Given the description of an element on the screen output the (x, y) to click on. 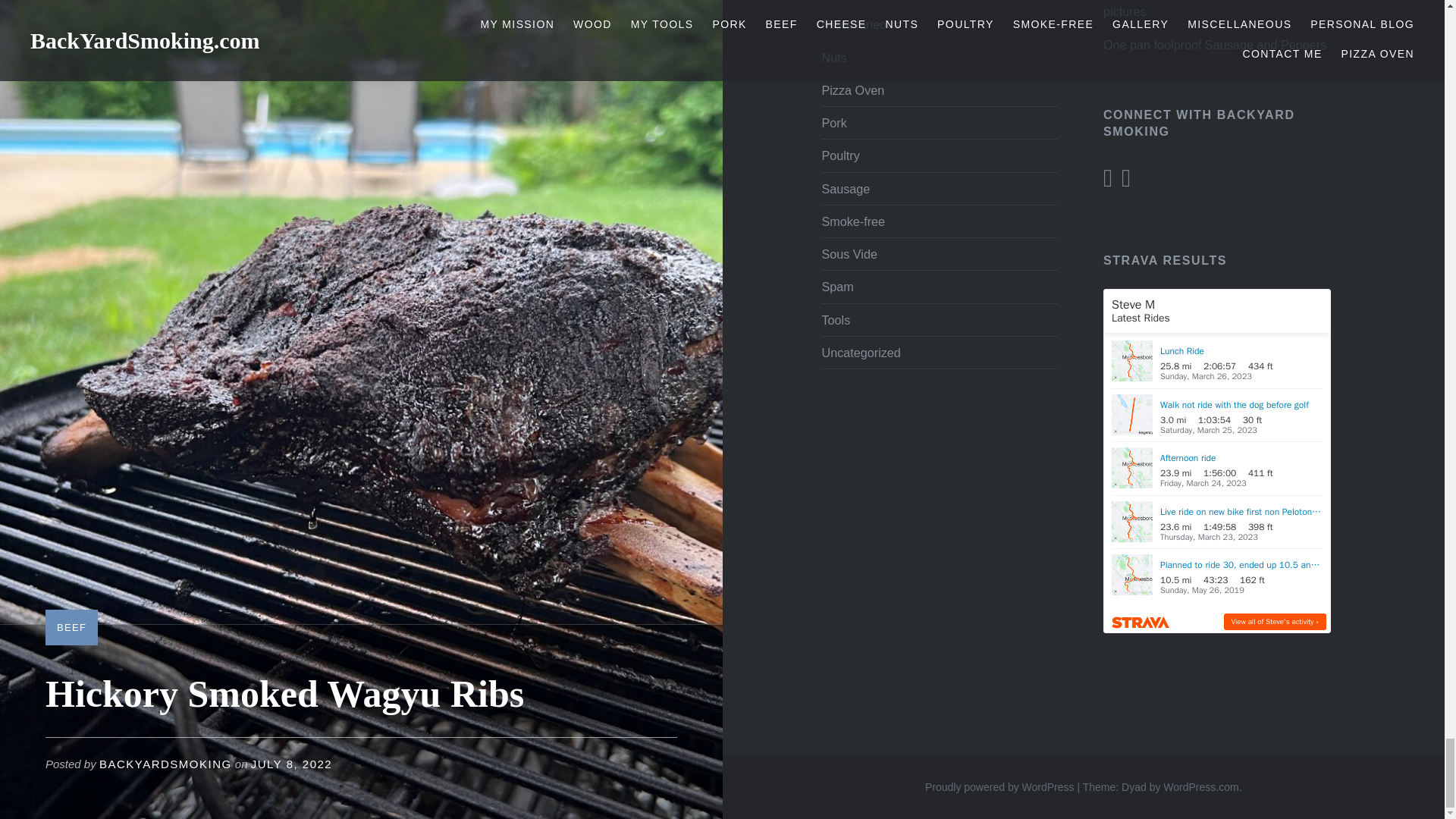
Sous Vide (849, 254)
Poultry (840, 155)
Tools (835, 319)
Sausage (845, 188)
Pork (833, 122)
Miscellaneous (860, 24)
Pizza Oven (852, 90)
Nuts (833, 57)
Uncategorized (860, 352)
Spam (837, 286)
Smoke-free (853, 221)
